Given the description of an element on the screen output the (x, y) to click on. 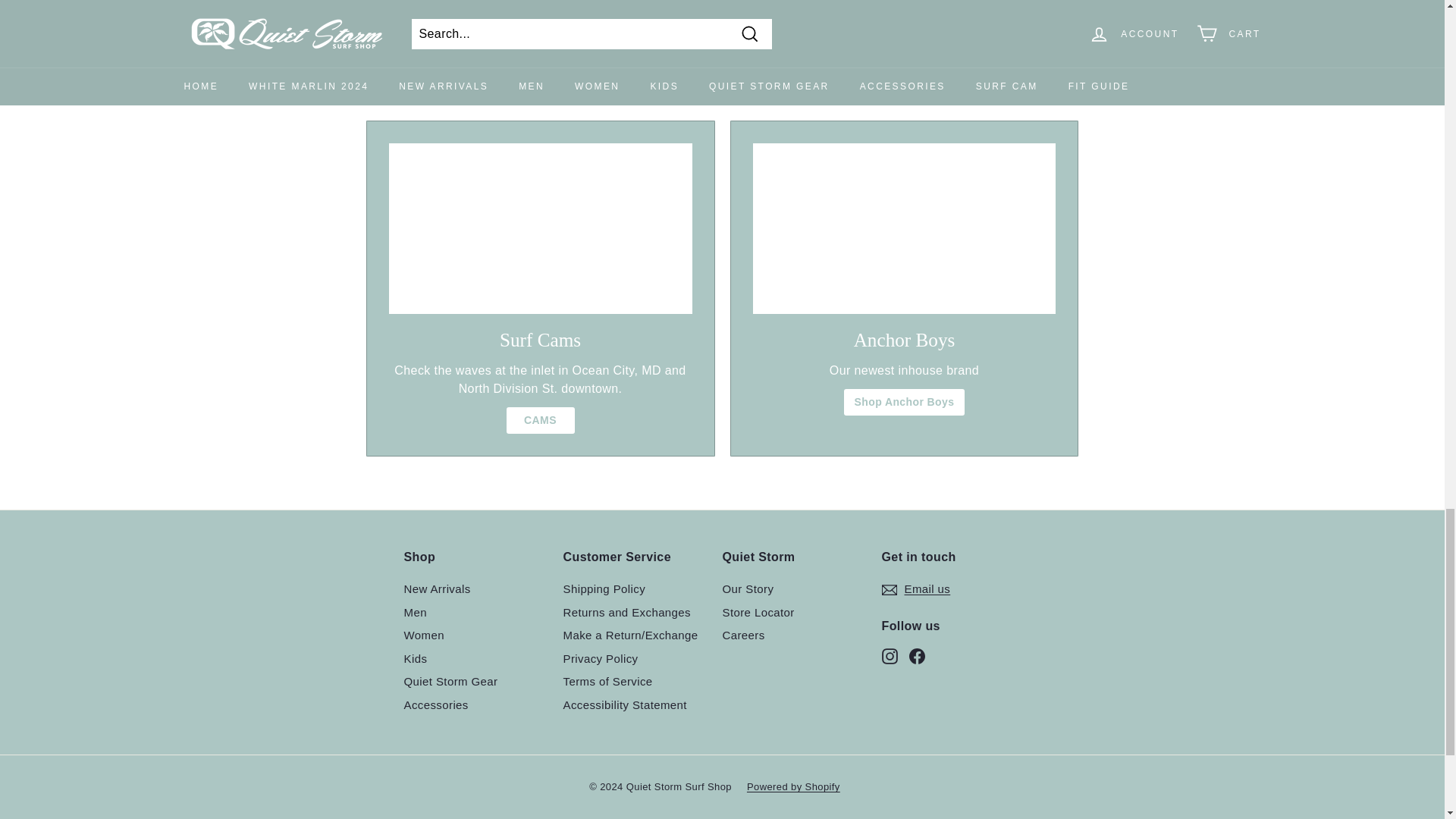
Quiet Storm Surf Shop on Instagram (888, 655)
Quiet Storm Surf Shop on Facebook (916, 655)
